Given the description of an element on the screen output the (x, y) to click on. 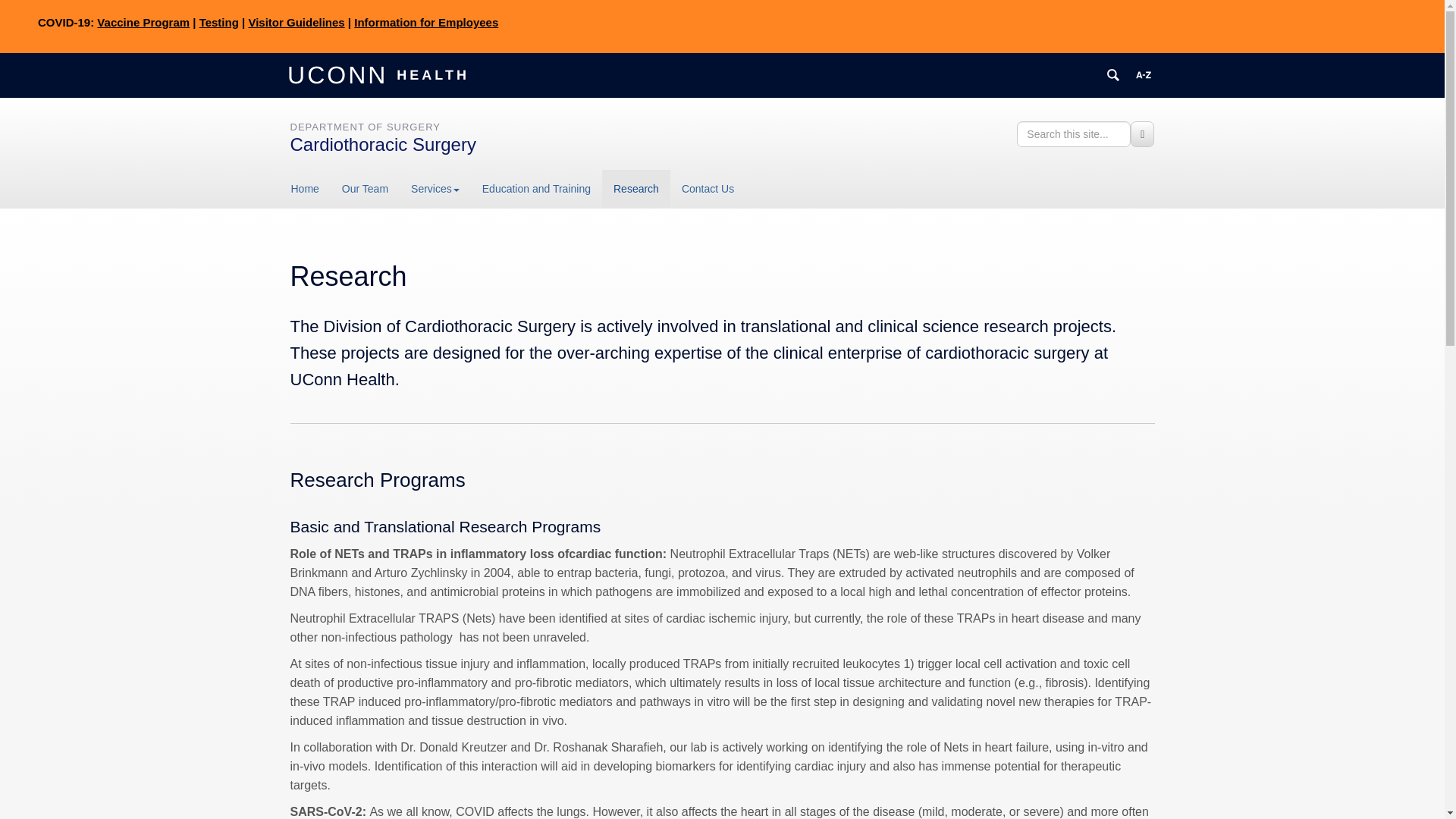
Home (310, 188)
Search (1142, 134)
Information for Employees (425, 21)
Cardiothoracic Surgery (382, 144)
UConn Health A to Z Index (1143, 74)
Search this site...  (1073, 134)
DEPARTMENT OF SURGERY (364, 126)
Education and Training (536, 188)
Research (635, 188)
Vaccine Program (143, 21)
Visitor Guidelines (295, 21)
Testing (218, 21)
Our Team (364, 188)
UCONN (340, 73)
